Given the description of an element on the screen output the (x, y) to click on. 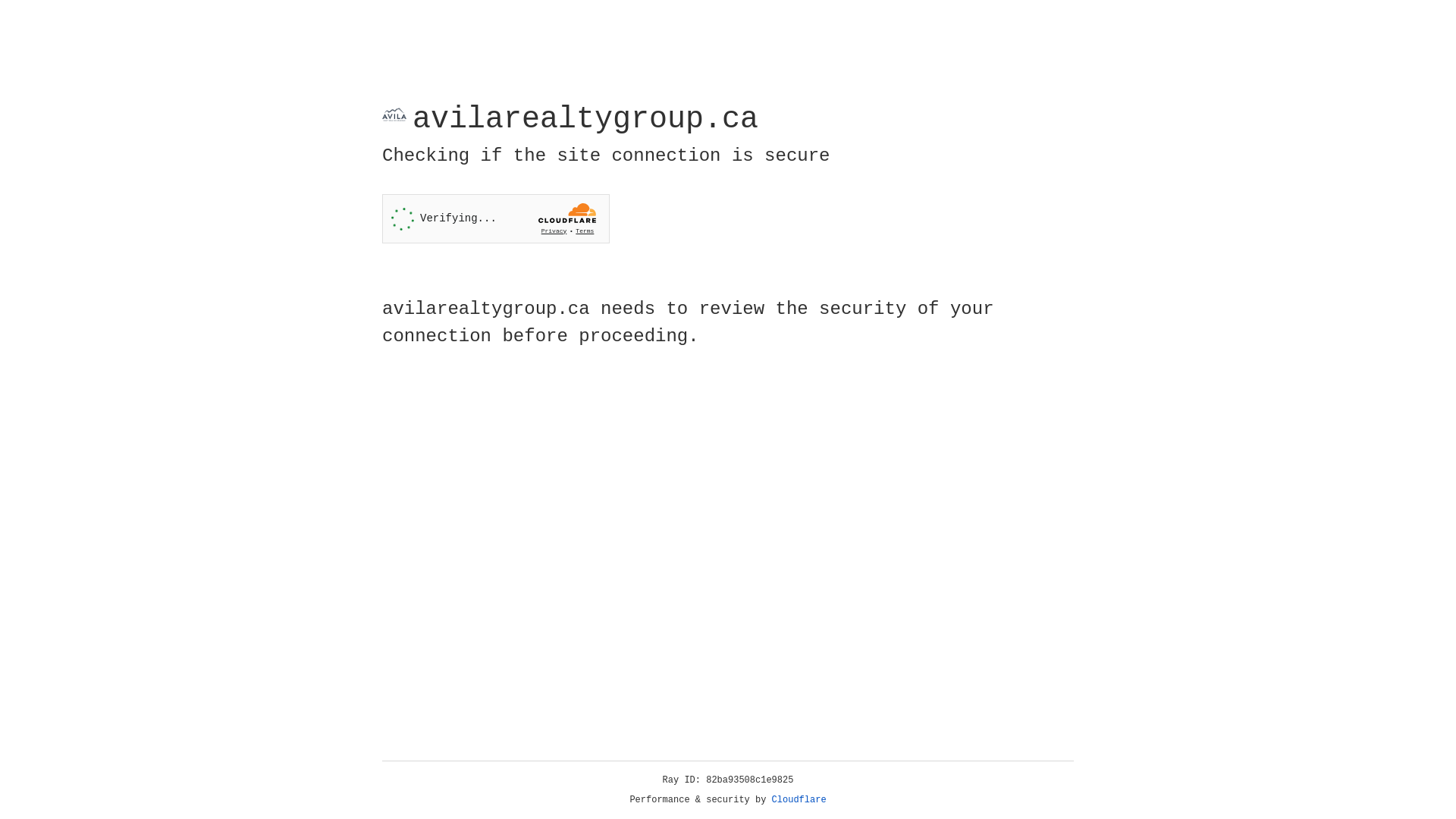
Widget containing a Cloudflare security challenge Element type: hover (495, 218)
Cloudflare Element type: text (798, 799)
